Given the description of an element on the screen output the (x, y) to click on. 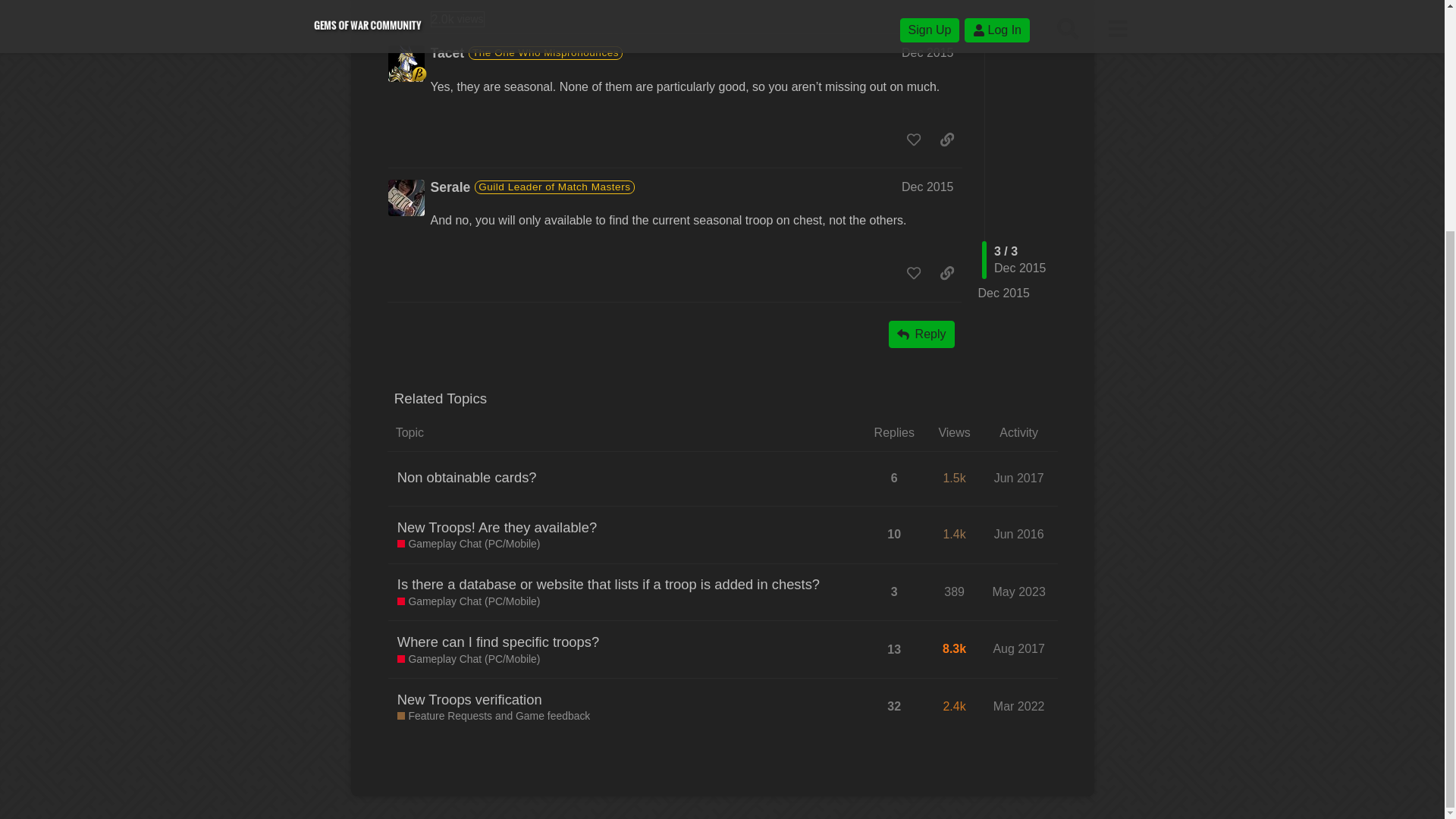
like this post (913, 138)
Jun 2017 (1019, 478)
Serale (450, 187)
Dec 2015 (457, 19)
Post date (1004, 131)
Non obtainable cards? (927, 51)
New Troops! Are they available? (467, 476)
Jun 2016 (496, 527)
